Given the description of an element on the screen output the (x, y) to click on. 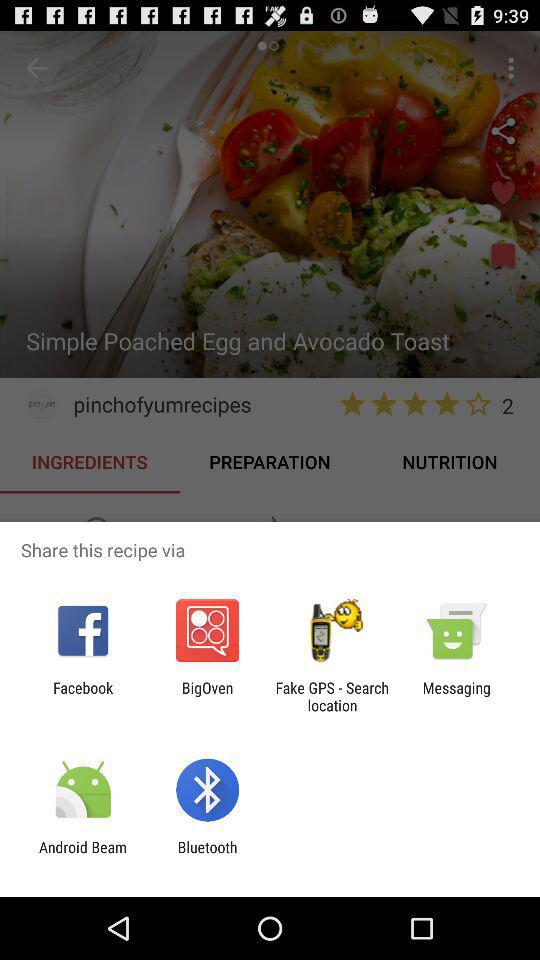
press the android beam (83, 856)
